Given the description of an element on the screen output the (x, y) to click on. 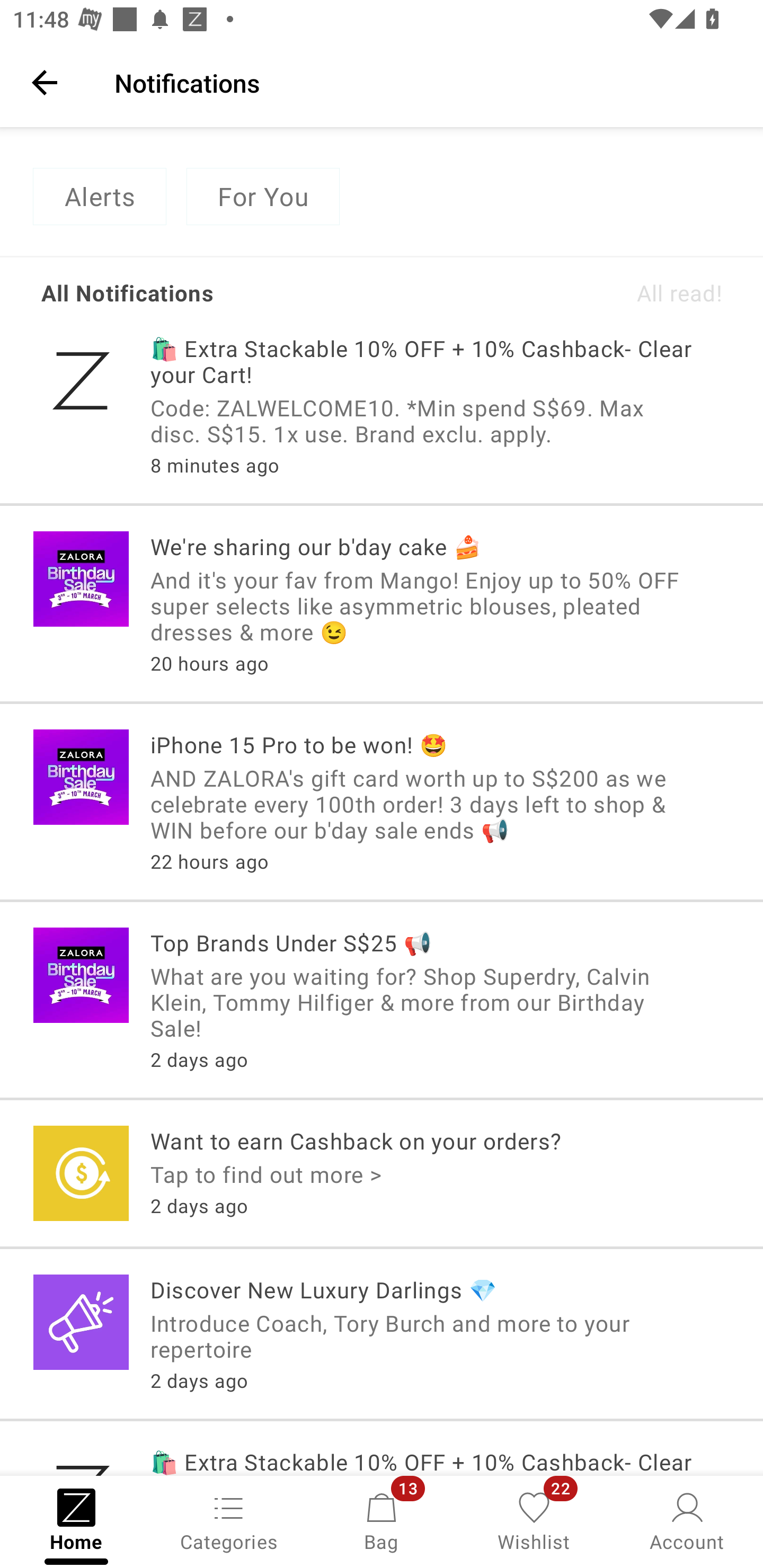
Navigate up (44, 82)
Notifications (426, 82)
Alerts (99, 196)
For You (262, 196)
Categories (228, 1519)
Bag, 13 new notifications Bag (381, 1519)
Wishlist, 22 new notifications Wishlist (533, 1519)
Account (686, 1519)
